Given the description of an element on the screen output the (x, y) to click on. 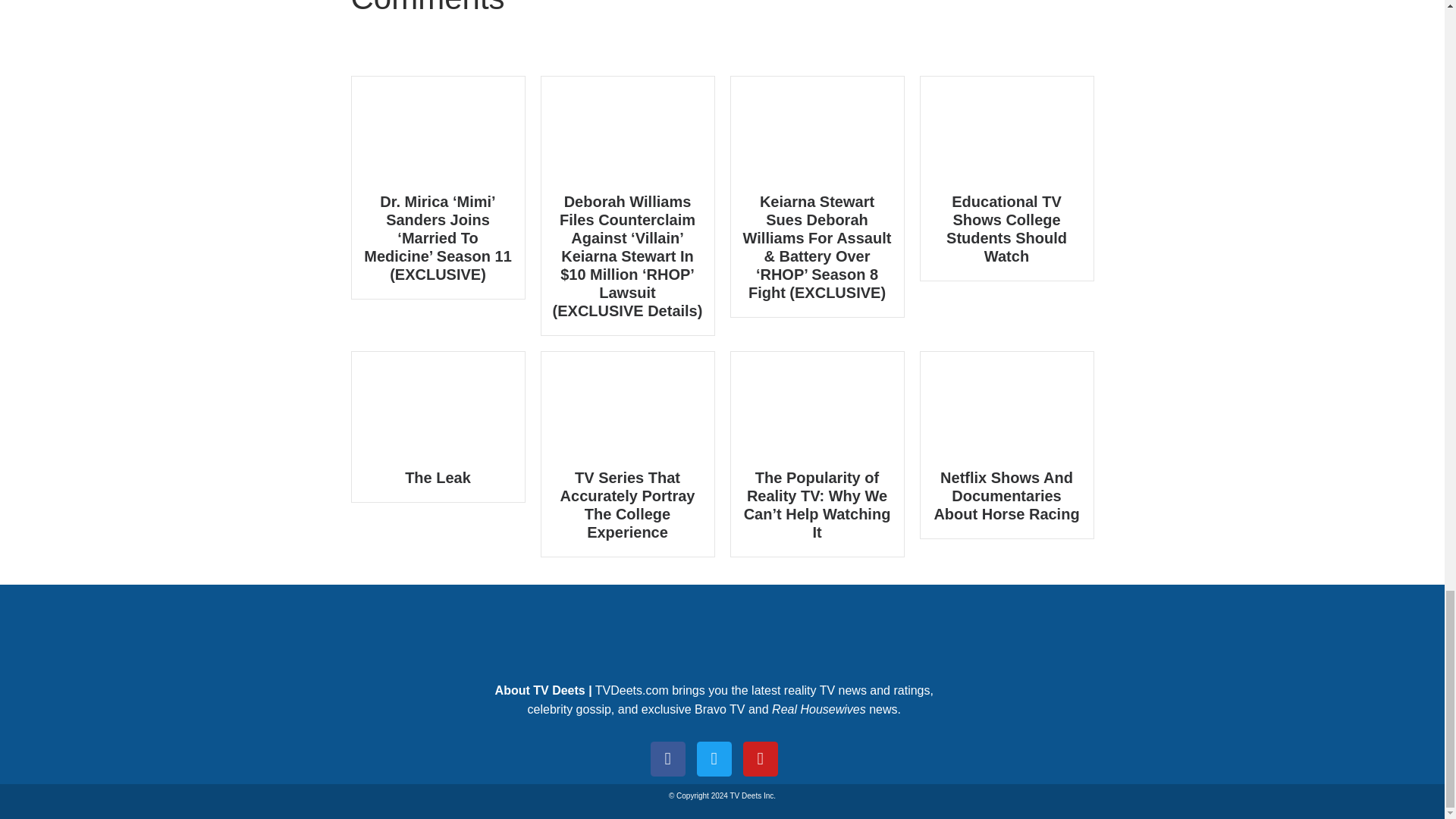
The Leak (437, 477)
TV Series That Accurately Portray The College Experience (627, 504)
Educational TV Shows College Students Should Watch (1006, 228)
Netflix Shows And Documentaries About Horse Racing (1005, 495)
